Given the description of an element on the screen output the (x, y) to click on. 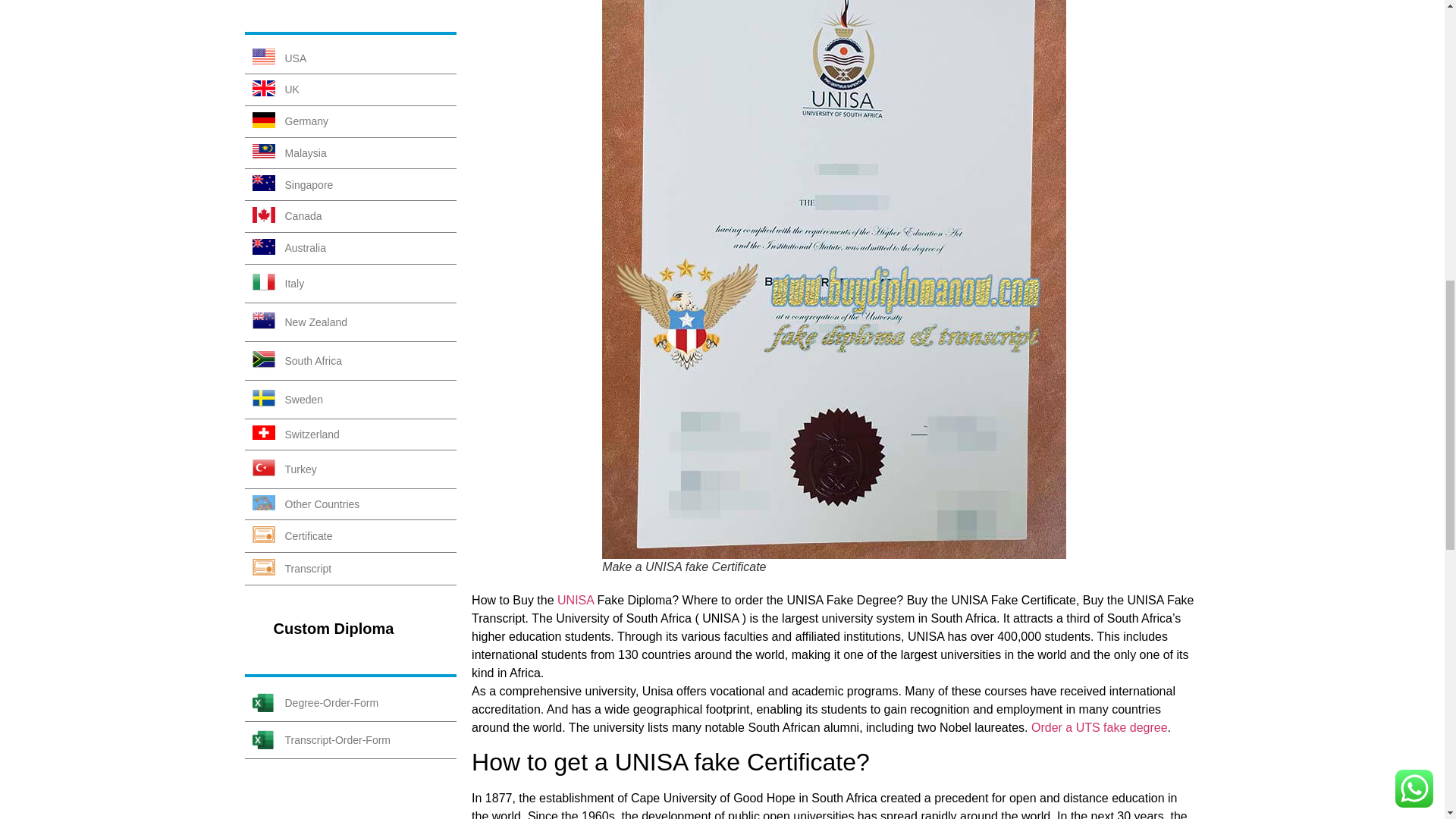
Germany (350, 122)
USA (350, 58)
Malaysia (350, 153)
Singapore (350, 184)
Australia (350, 248)
Canada (350, 216)
UK (350, 90)
